Given the description of an element on the screen output the (x, y) to click on. 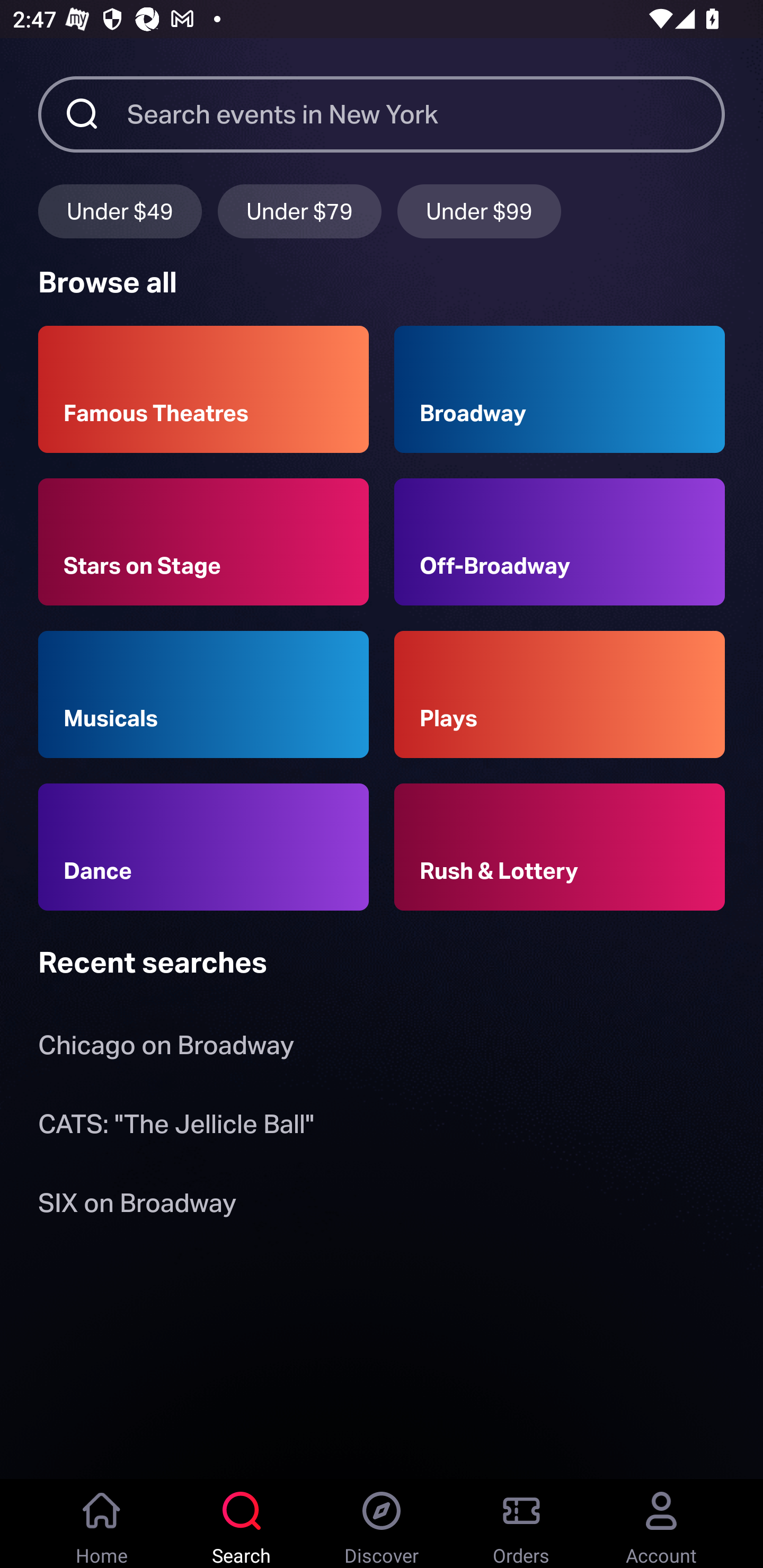
Search events in New York (425, 113)
Under $49 (120, 211)
Under $79 (299, 211)
Under $99 (478, 211)
Famous Theatres (203, 389)
Broadway (559, 389)
Stars on Stage (203, 541)
Off-Broadway (559, 541)
Musicals (203, 693)
Plays (559, 693)
Dance (203, 847)
Rush & Lottery (559, 847)
Chicago on Broadway (165, 1048)
CATS: "The Jellicle Ball" (176, 1127)
SIX on Broadway (137, 1205)
Home (101, 1523)
Discover (381, 1523)
Orders (521, 1523)
Account (660, 1523)
